Given the description of an element on the screen output the (x, y) to click on. 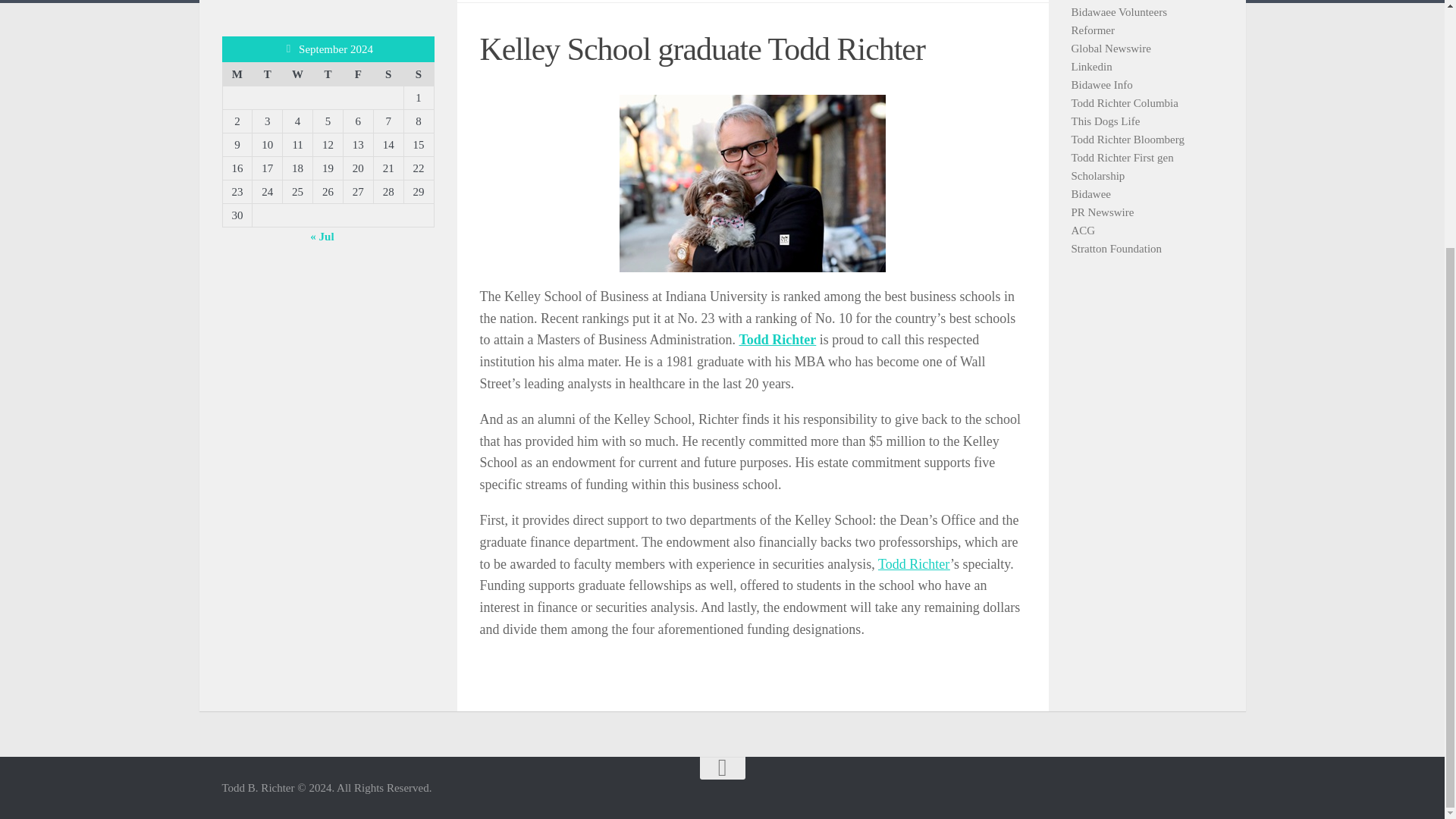
Saturday (387, 73)
Reformer (1091, 30)
Todd Richter First gen Scholarship (1121, 166)
Linkedin (1091, 66)
This Dogs Life (1105, 121)
Tuesday (266, 73)
Todd Richter (776, 339)
ACG (1082, 230)
Sunday (418, 73)
Bidawaee Volunteers (1118, 11)
